Given the description of an element on the screen output the (x, y) to click on. 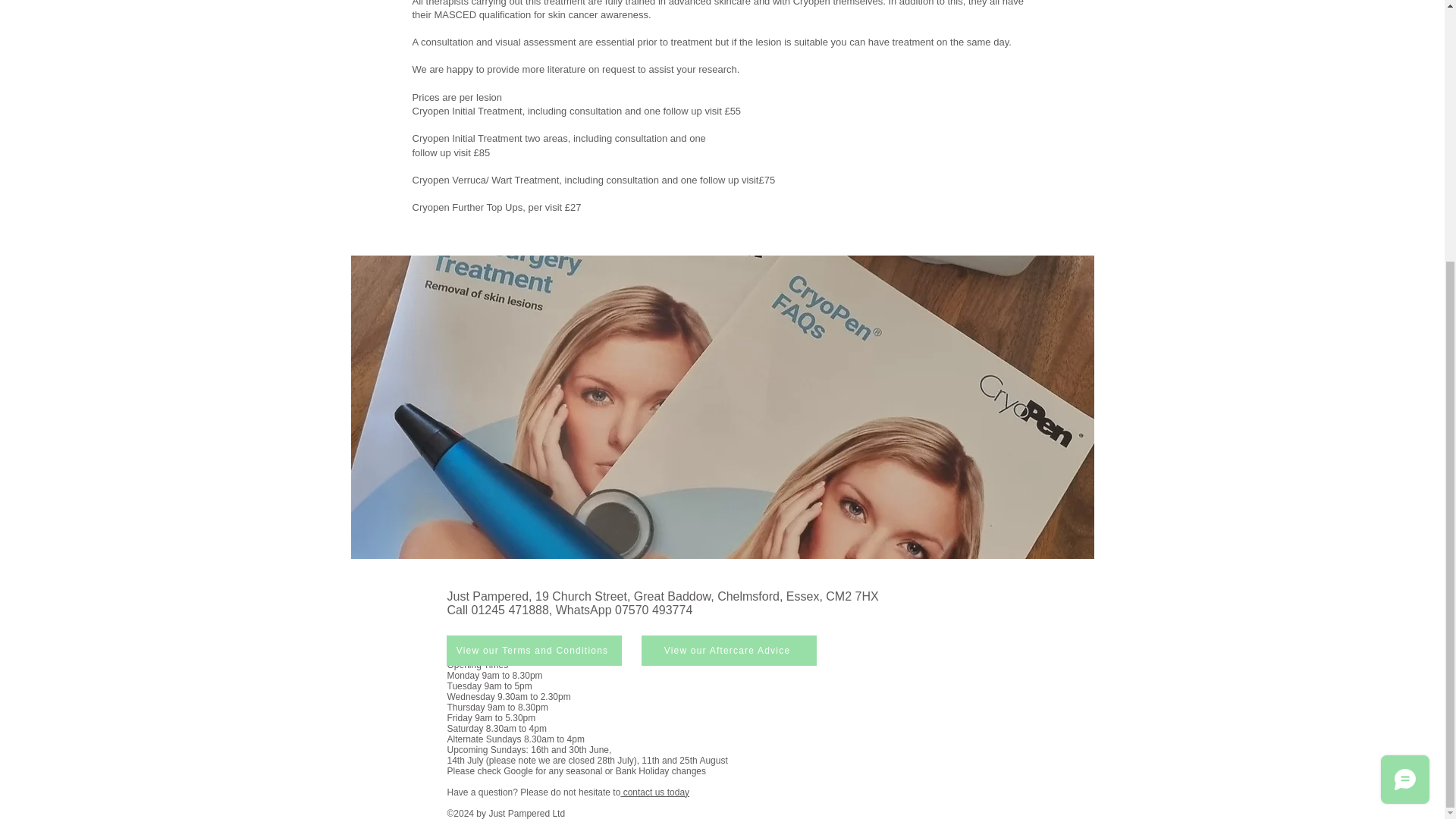
contact us today (654, 792)
View our Aftercare Advice (729, 650)
View our Terms and Conditions (533, 650)
